Given the description of an element on the screen output the (x, y) to click on. 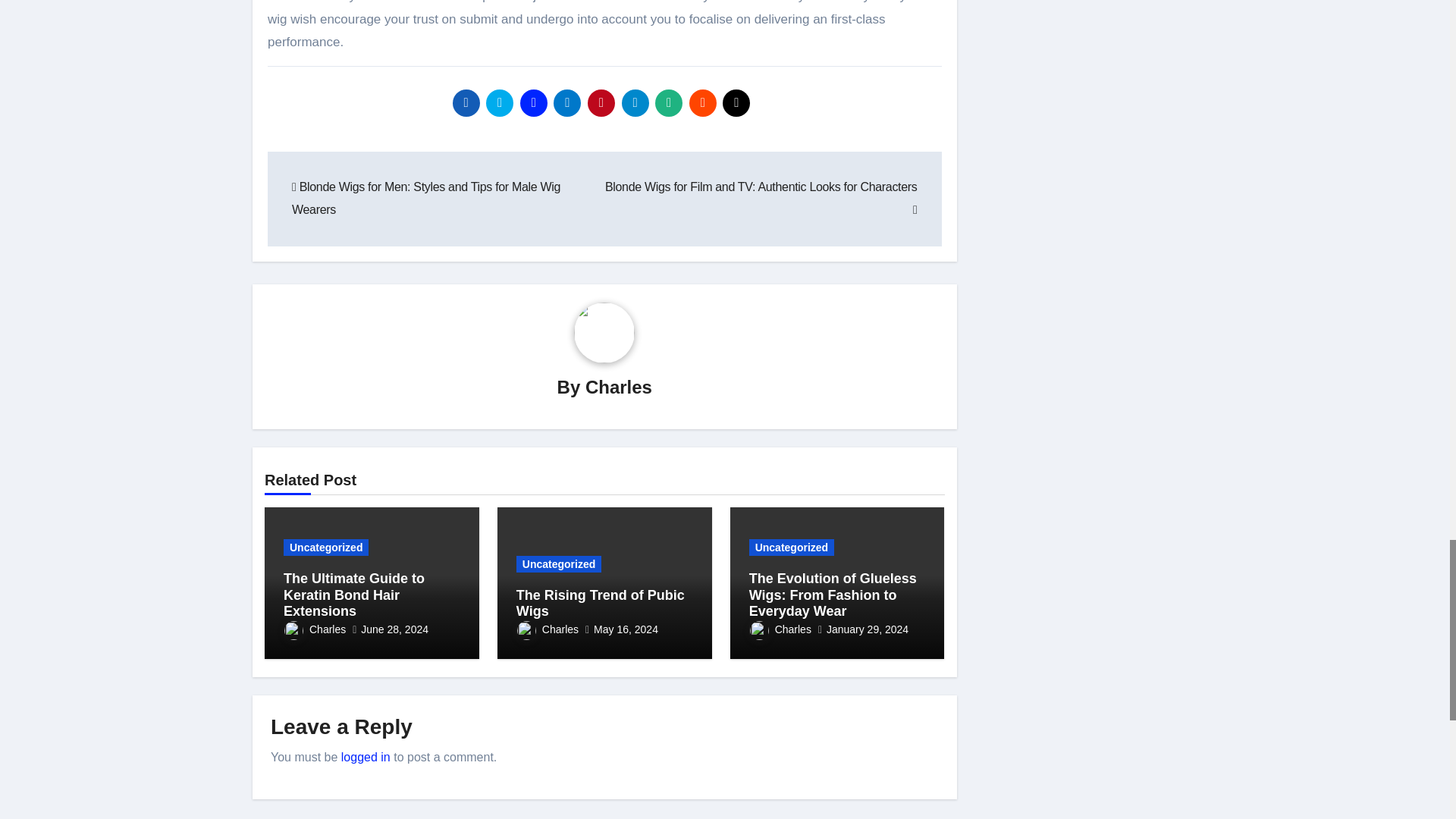
Uncategorized (558, 564)
Blonde Wigs for Men: Styles and Tips for Male Wig Wearers (426, 198)
Charles (314, 629)
The Ultimate Guide to Keratin Bond Hair Extensions (354, 594)
Charles (618, 386)
Permalink to: The Rising Trend of Pubic Wigs (600, 603)
Blonde Wigs for Film and TV: Authentic Looks for Characters (761, 198)
June 28, 2024 (394, 629)
